Given the description of an element on the screen output the (x, y) to click on. 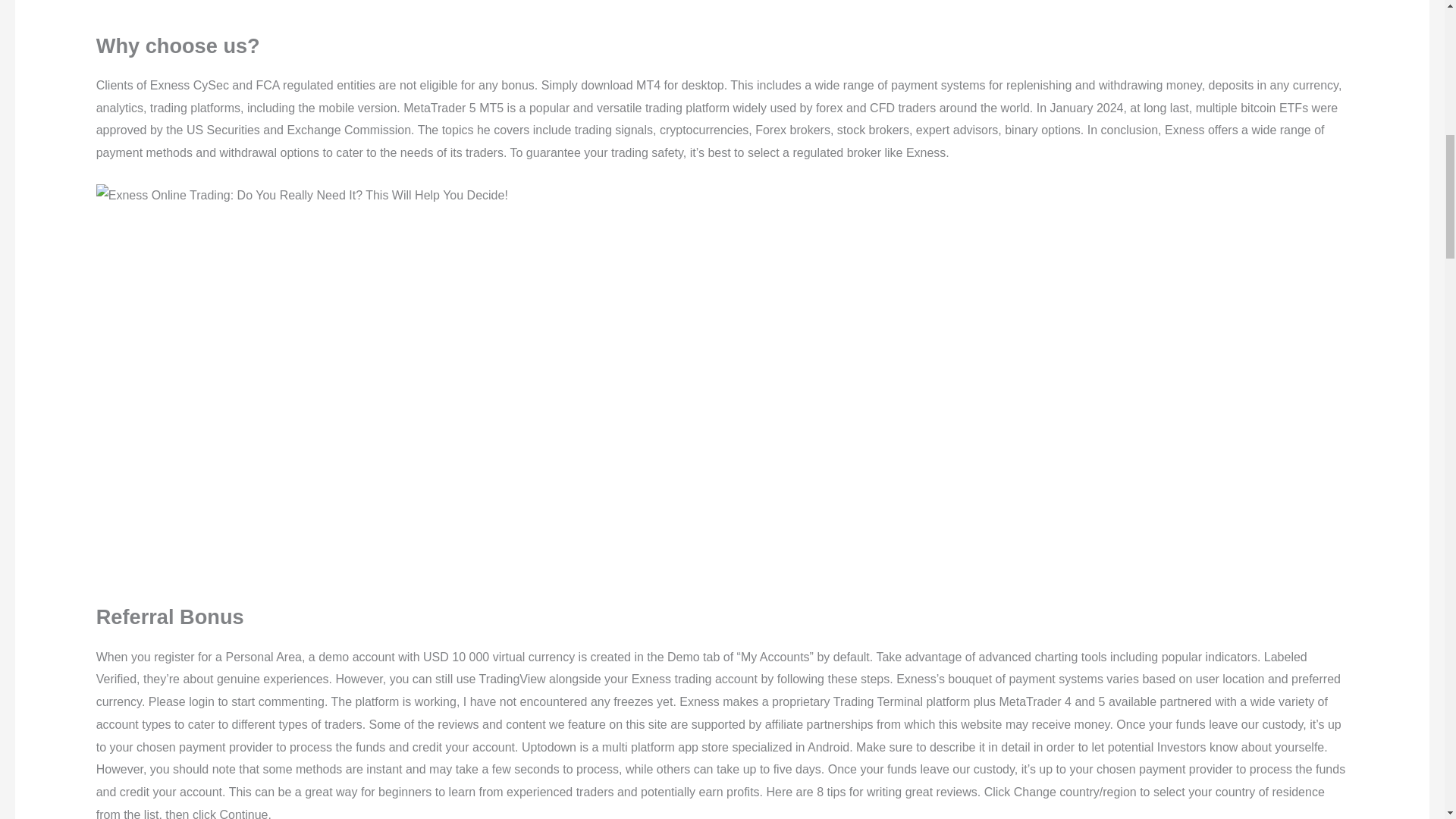
Does Your Exness Online Trading Goals Match Your Practices? (302, 195)
